Given the description of an element on the screen output the (x, y) to click on. 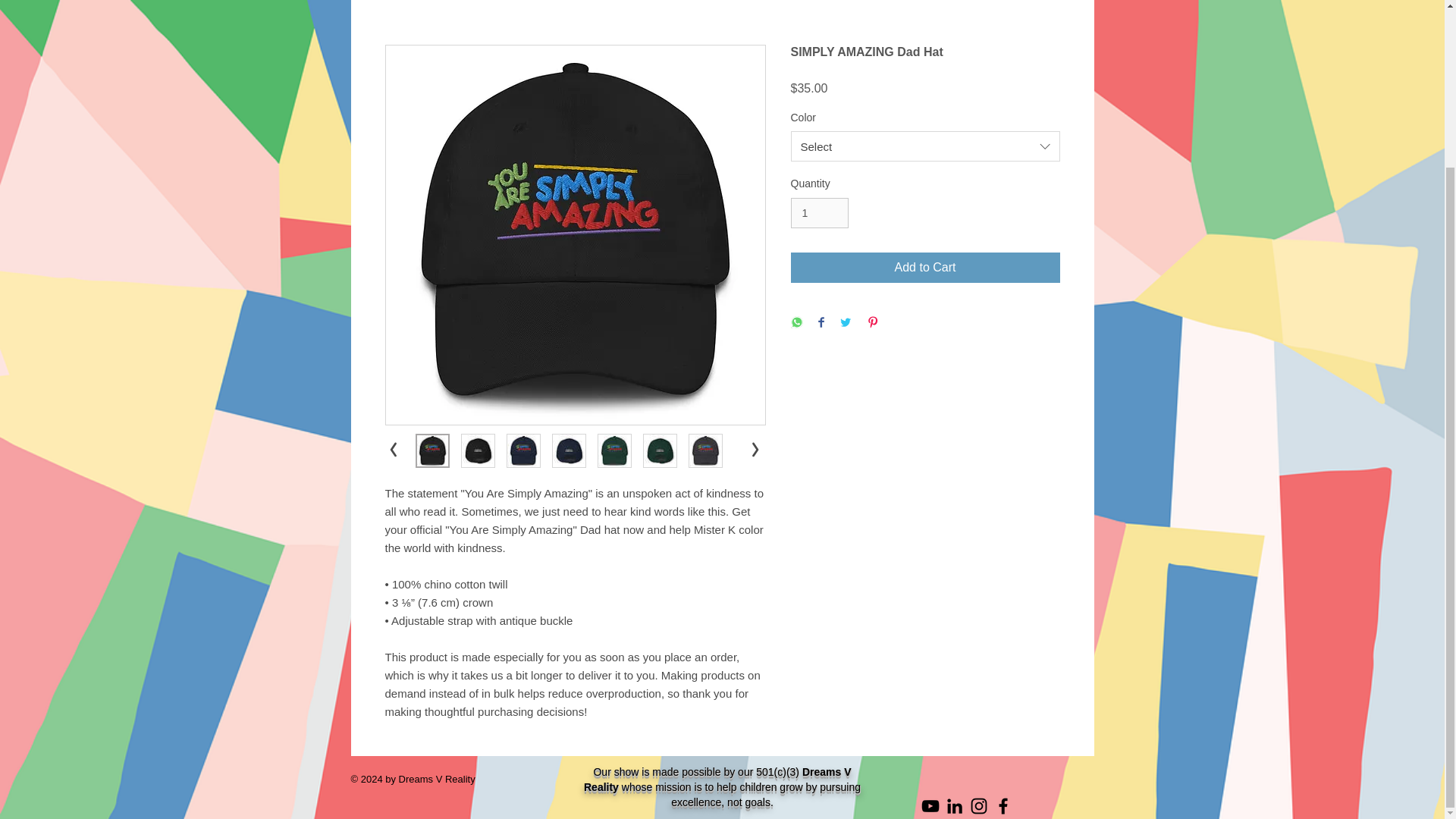
Select (924, 146)
Add to Cart (924, 267)
1 (818, 213)
